Given the description of an element on the screen output the (x, y) to click on. 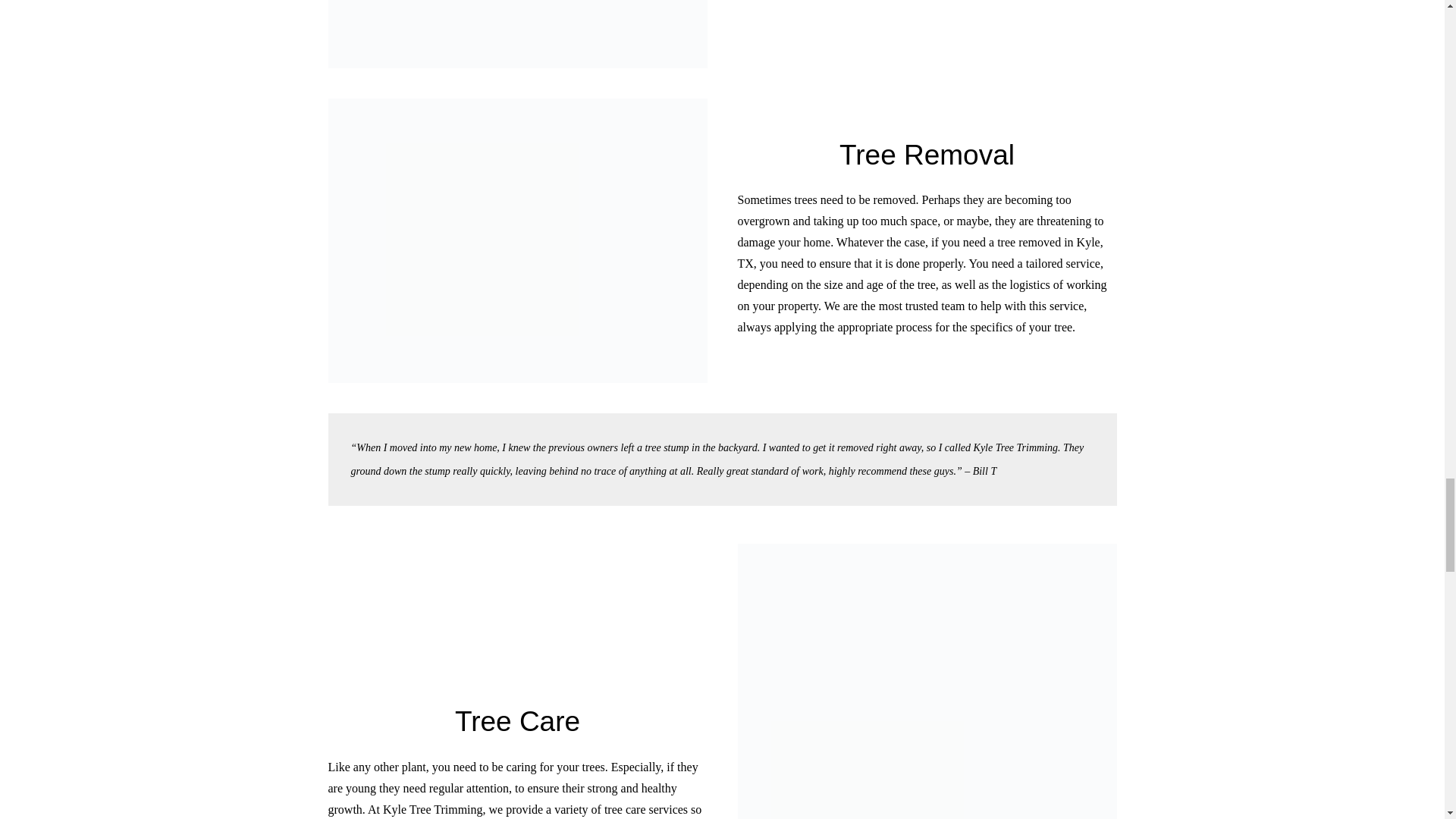
KyleTreeTrimmingKyleTX (516, 33)
Tree Trimming Austin TX (926, 681)
Kyle TX Tree Removal (516, 240)
Tree Care (516, 721)
Tree Removal (927, 154)
Tree Care (516, 721)
Tree Removal (927, 154)
